Given the description of an element on the screen output the (x, y) to click on. 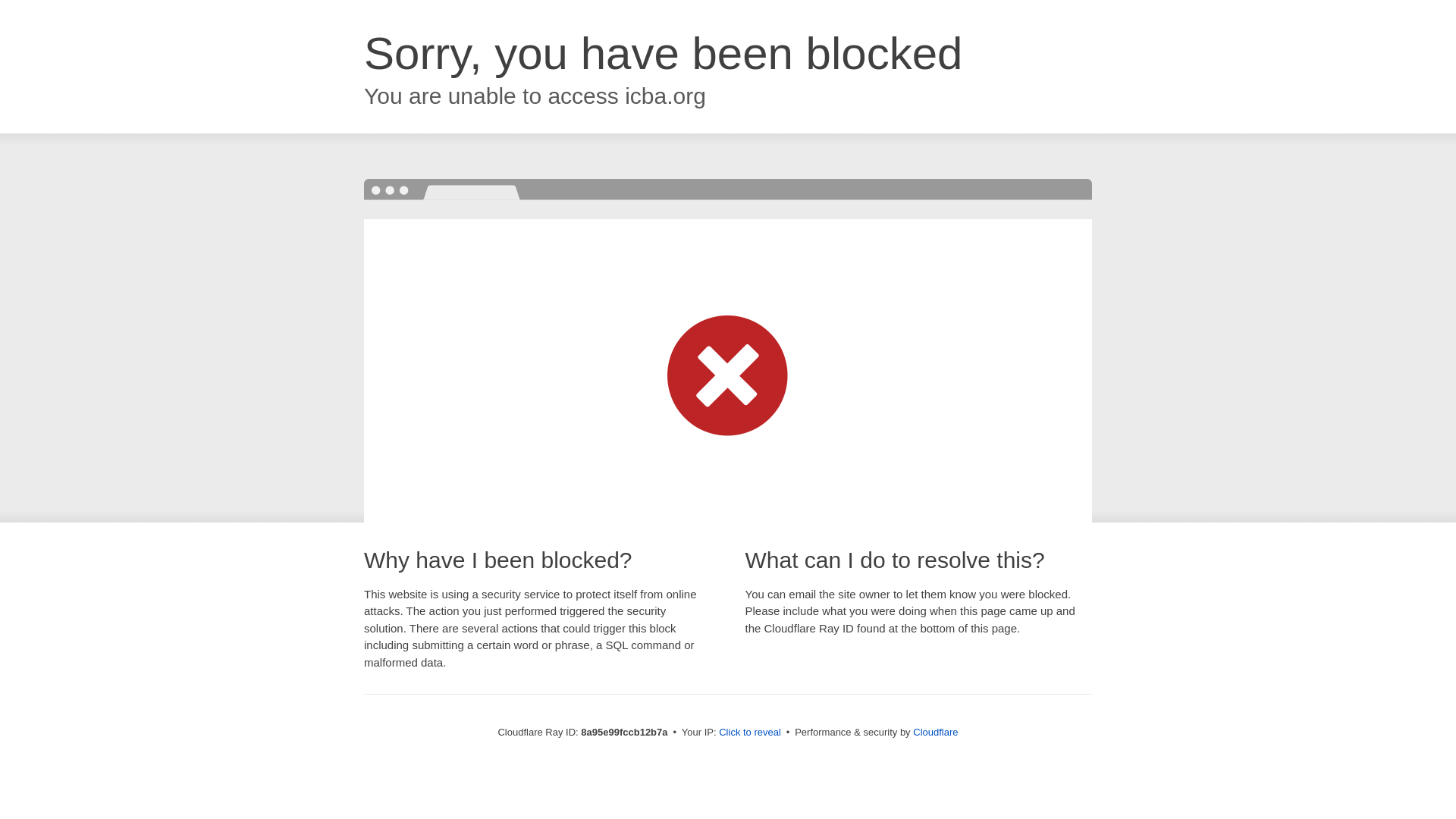
Click to reveal (749, 732)
Cloudflare (935, 731)
